Given the description of an element on the screen output the (x, y) to click on. 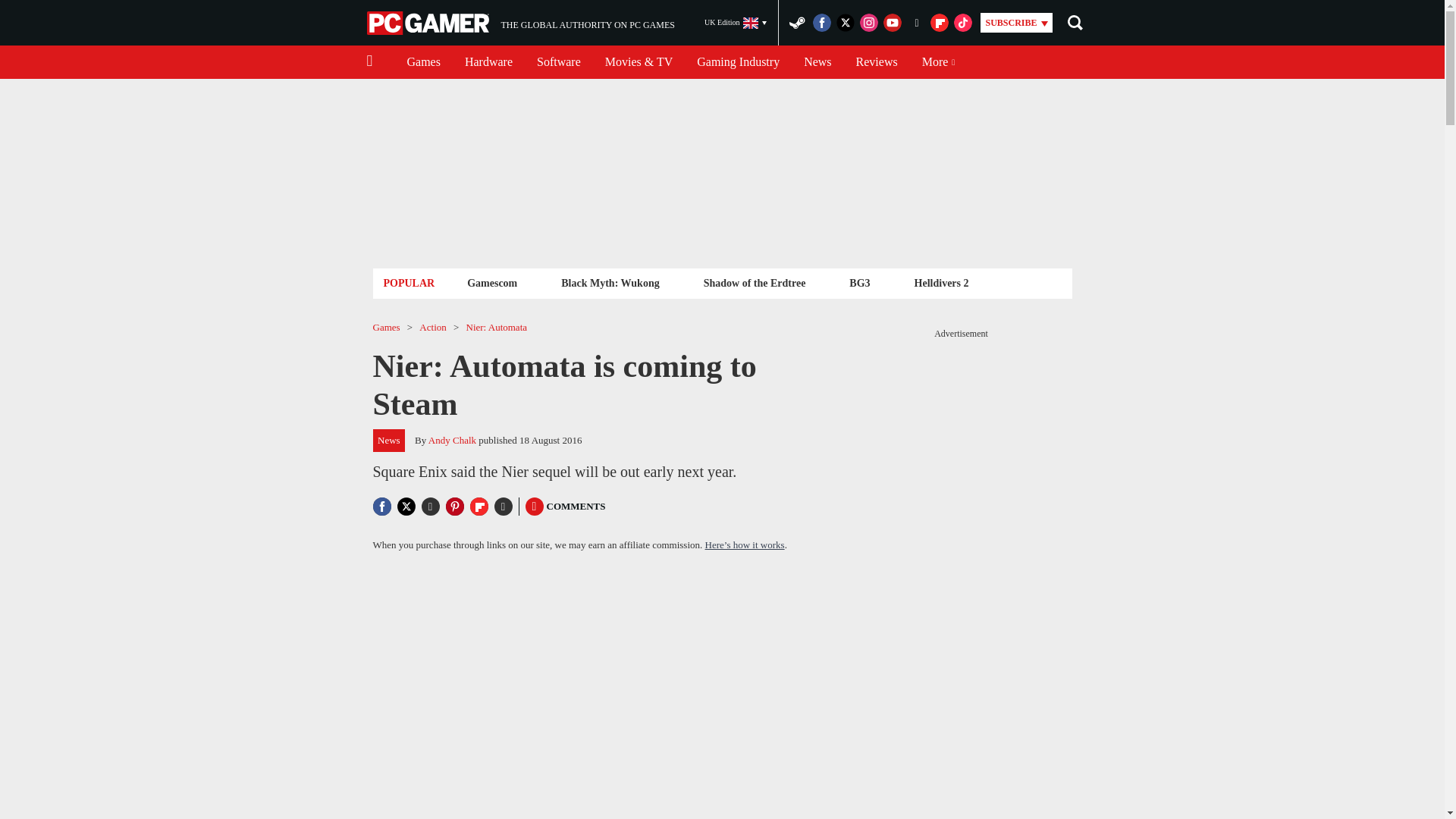
Black Myth: Wukong (609, 282)
Gaming Industry (738, 61)
UK Edition (735, 22)
Software (558, 61)
Hardware (520, 22)
News (488, 61)
PC Gamer (817, 61)
Reviews (429, 22)
Games (877, 61)
